Given the description of an element on the screen output the (x, y) to click on. 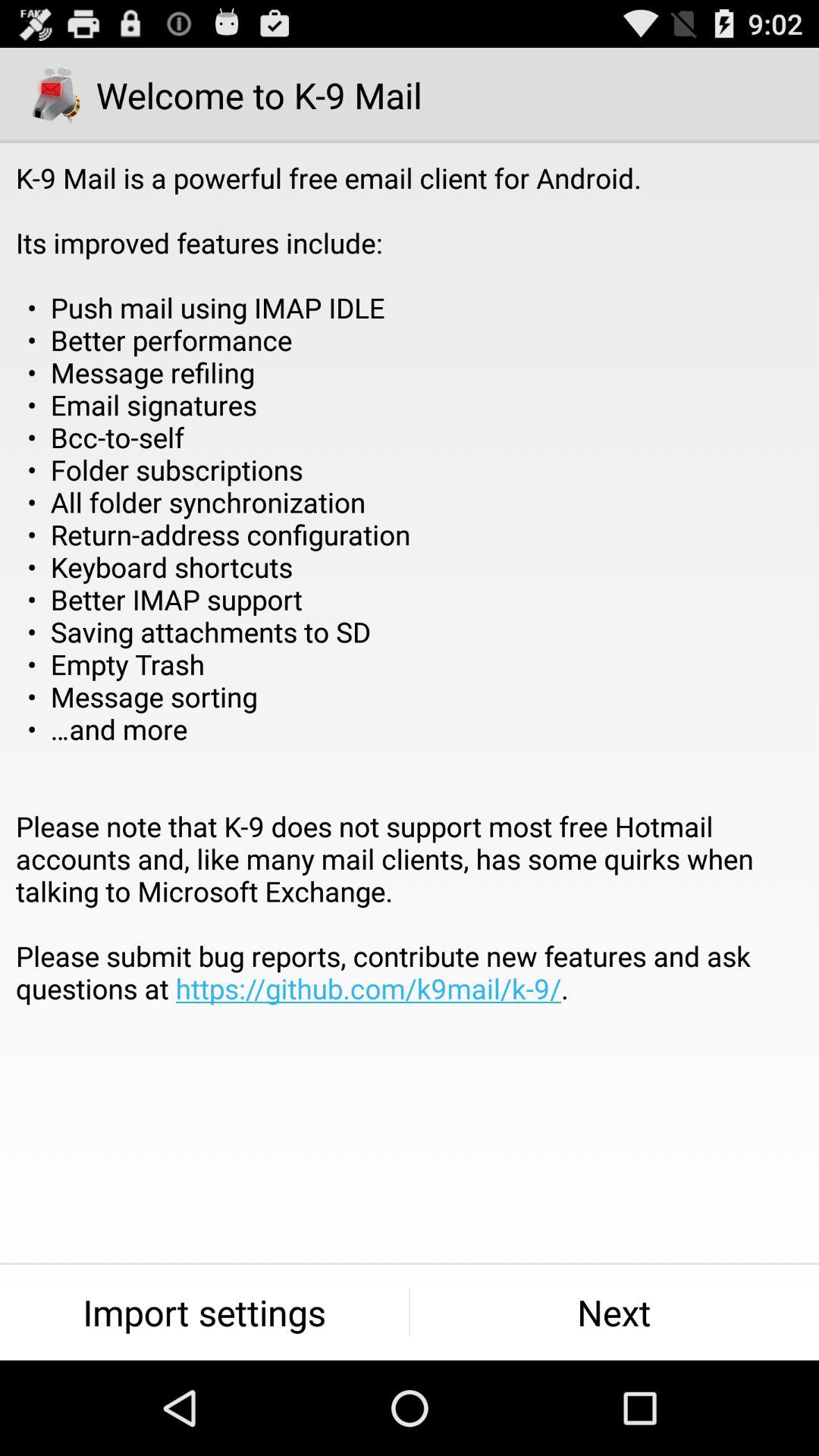
turn off the icon at the bottom left corner (204, 1312)
